Given the description of an element on the screen output the (x, y) to click on. 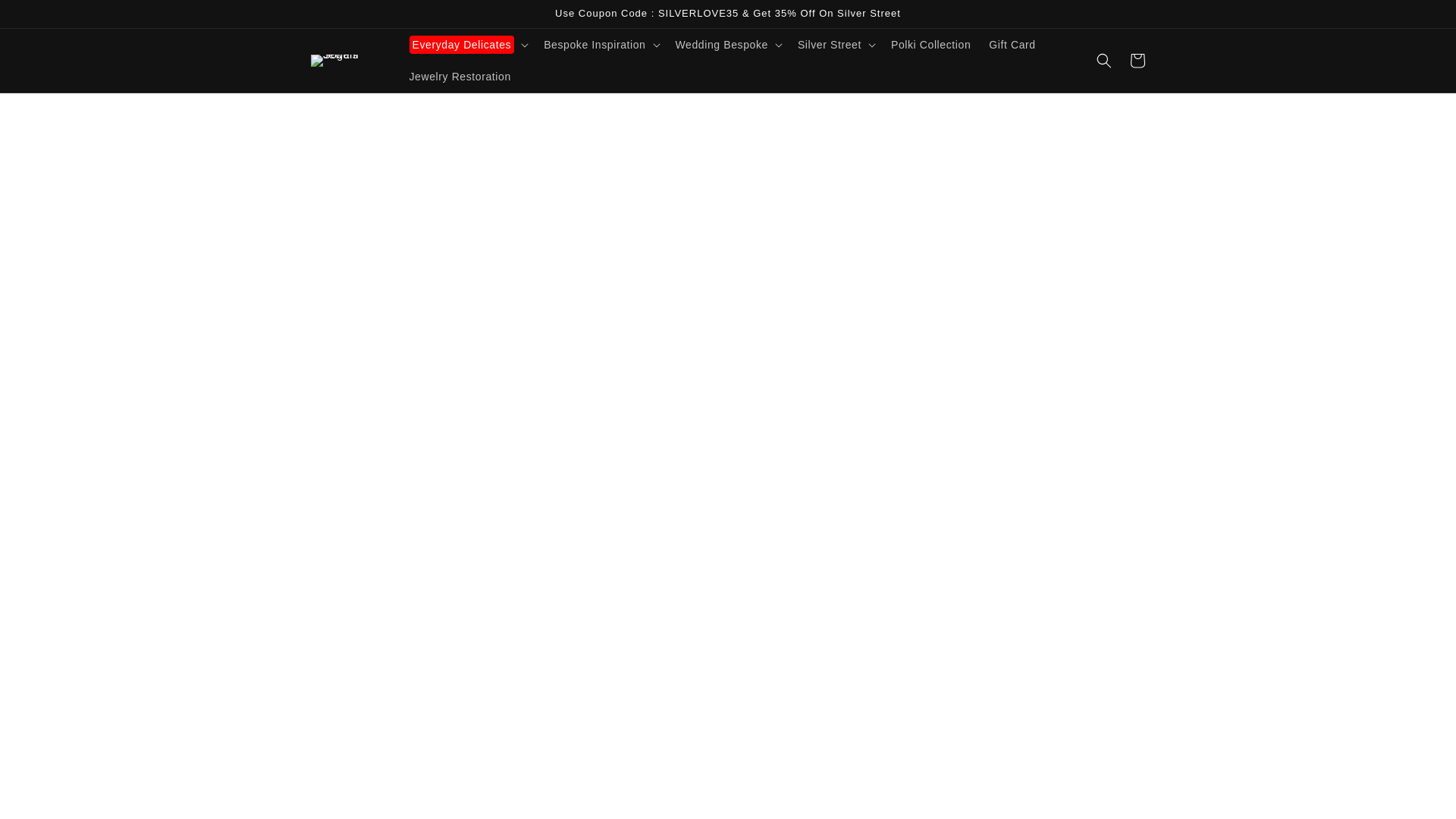
Skip to content (45, 17)
